Given the description of an element on the screen output the (x, y) to click on. 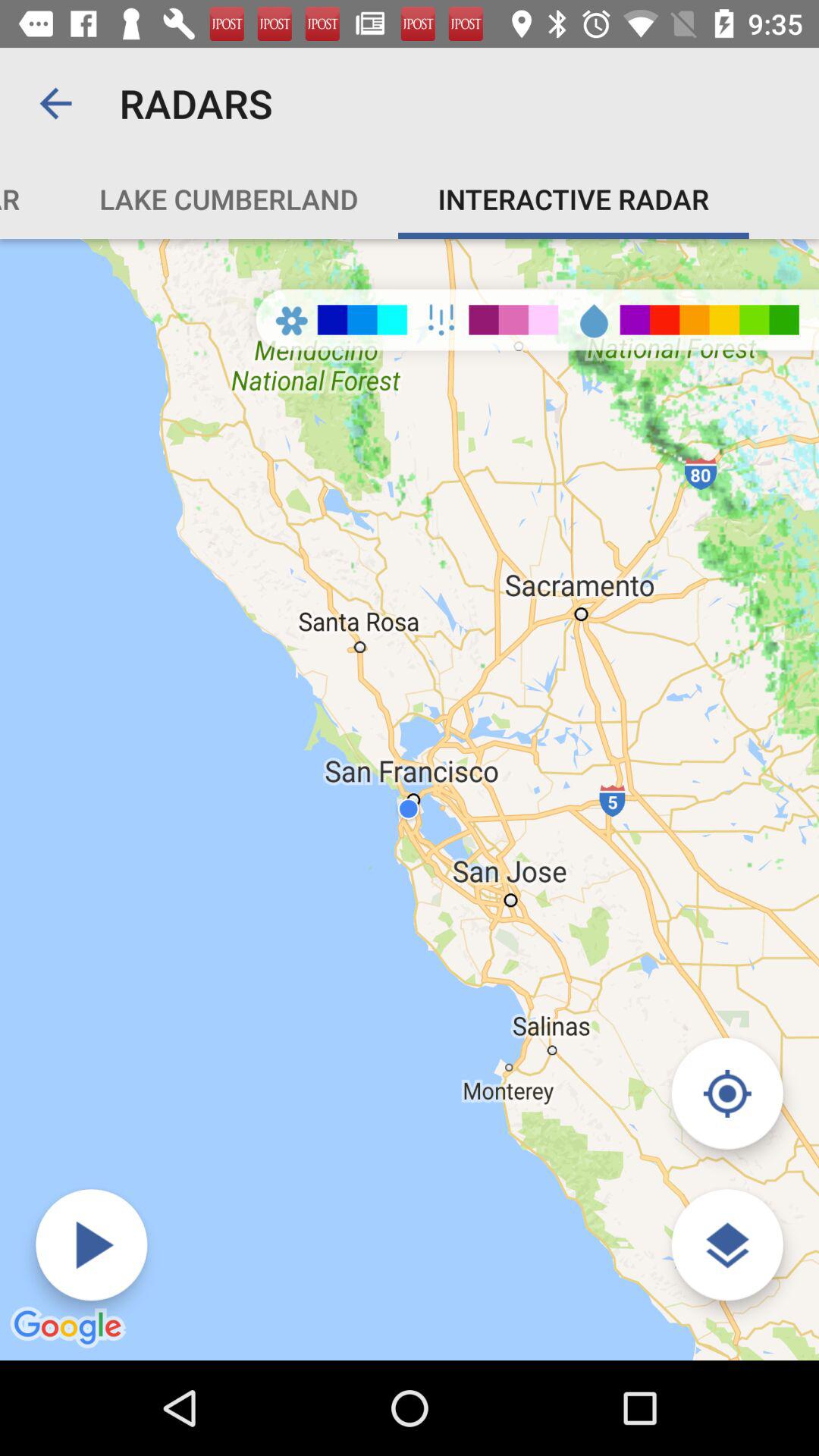
press the item above rough river radar item (55, 103)
